Given the description of an element on the screen output the (x, y) to click on. 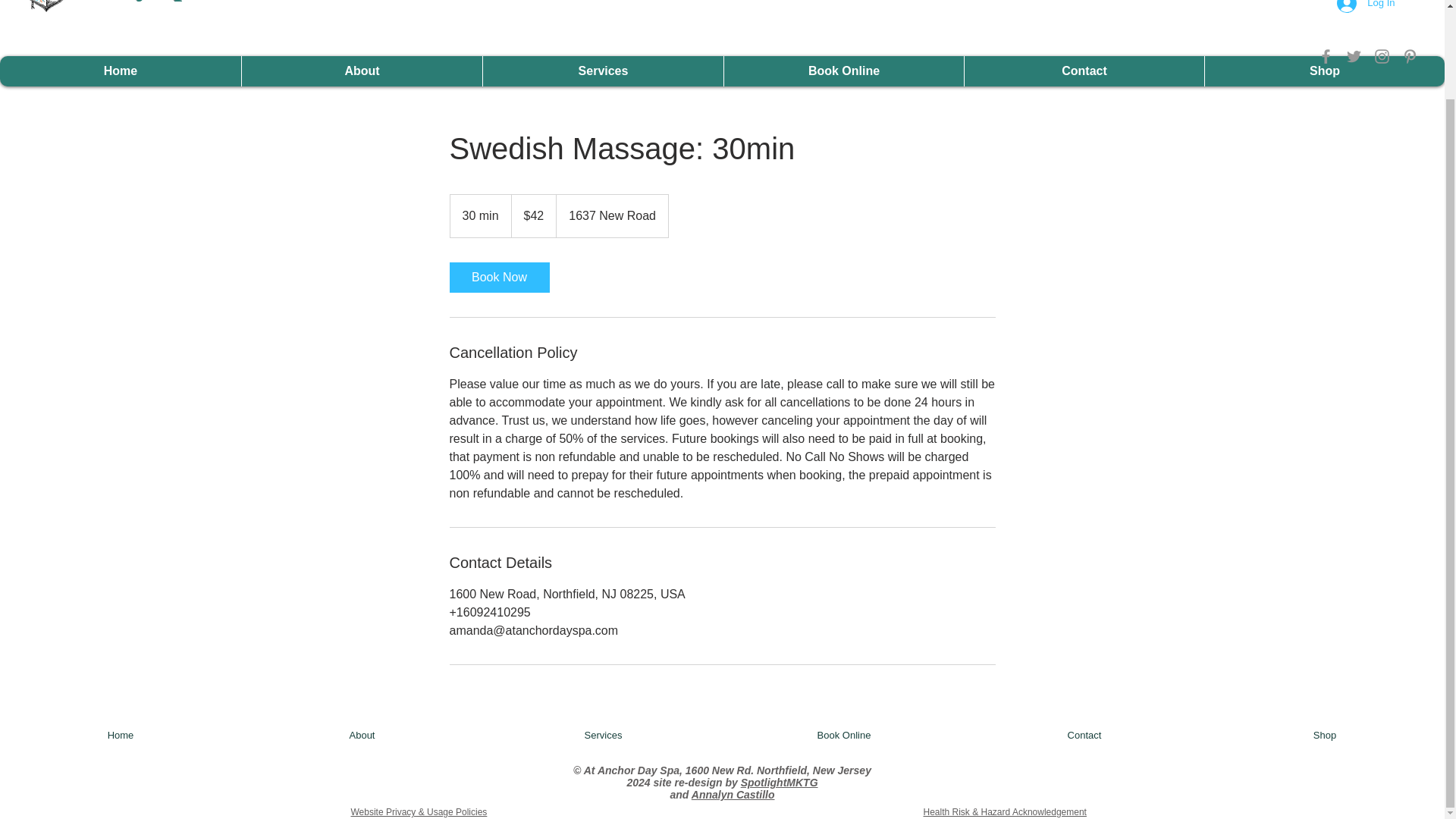
Log In (1365, 8)
Home (120, 735)
Home (120, 71)
Contact (1083, 71)
SpotlightMKTG (779, 782)
Contact (1083, 735)
Annalyn Castillo (732, 794)
Book Online (843, 735)
Book Online (843, 71)
Book Now (498, 277)
